Given the description of an element on the screen output the (x, y) to click on. 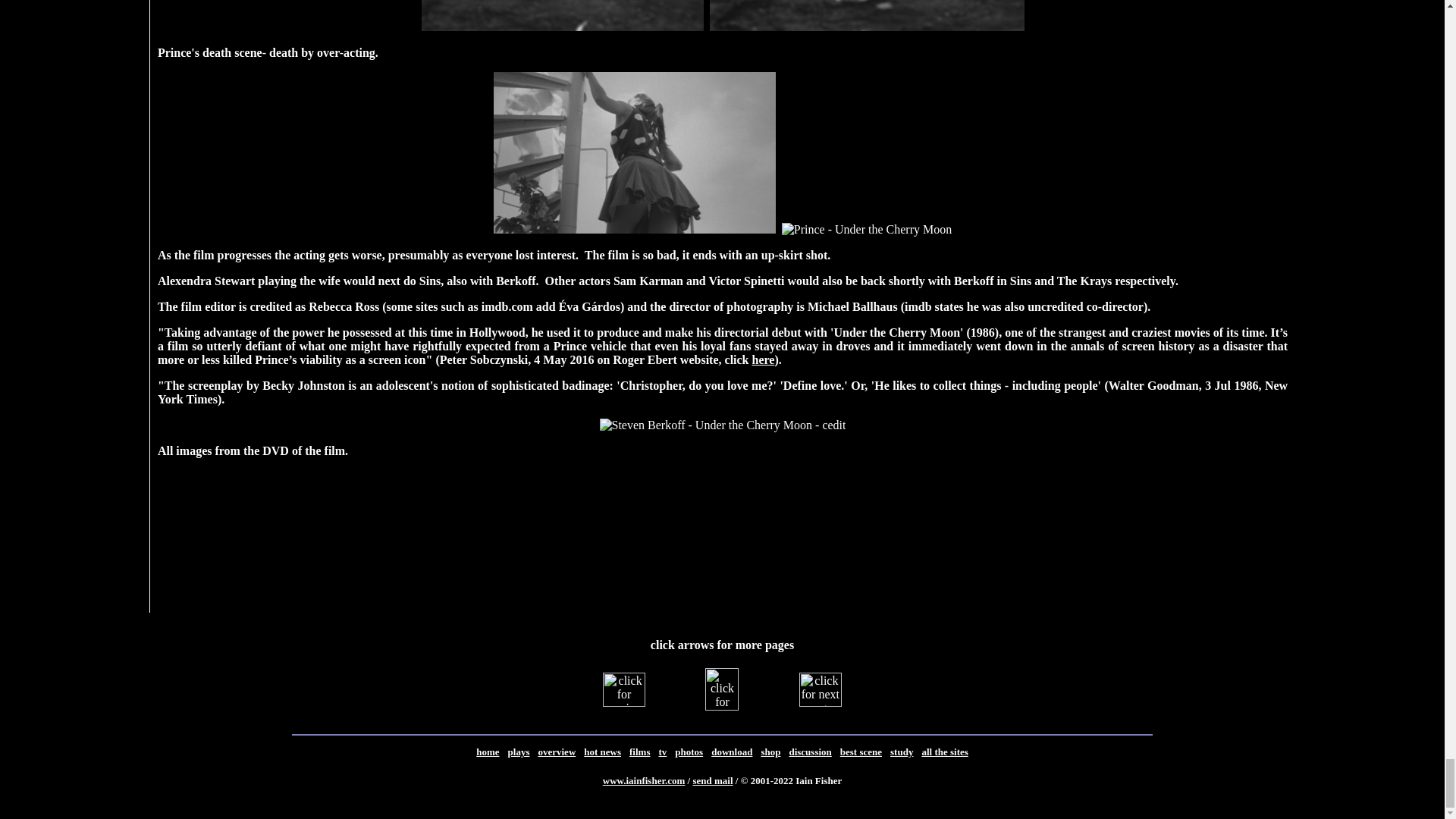
plays (518, 751)
send mail (712, 780)
www.iainfisher.com (643, 780)
home (487, 751)
hot news (602, 750)
discussion (810, 751)
overview (556, 751)
study (900, 750)
photos (689, 750)
download (731, 750)
